Given the description of an element on the screen output the (x, y) to click on. 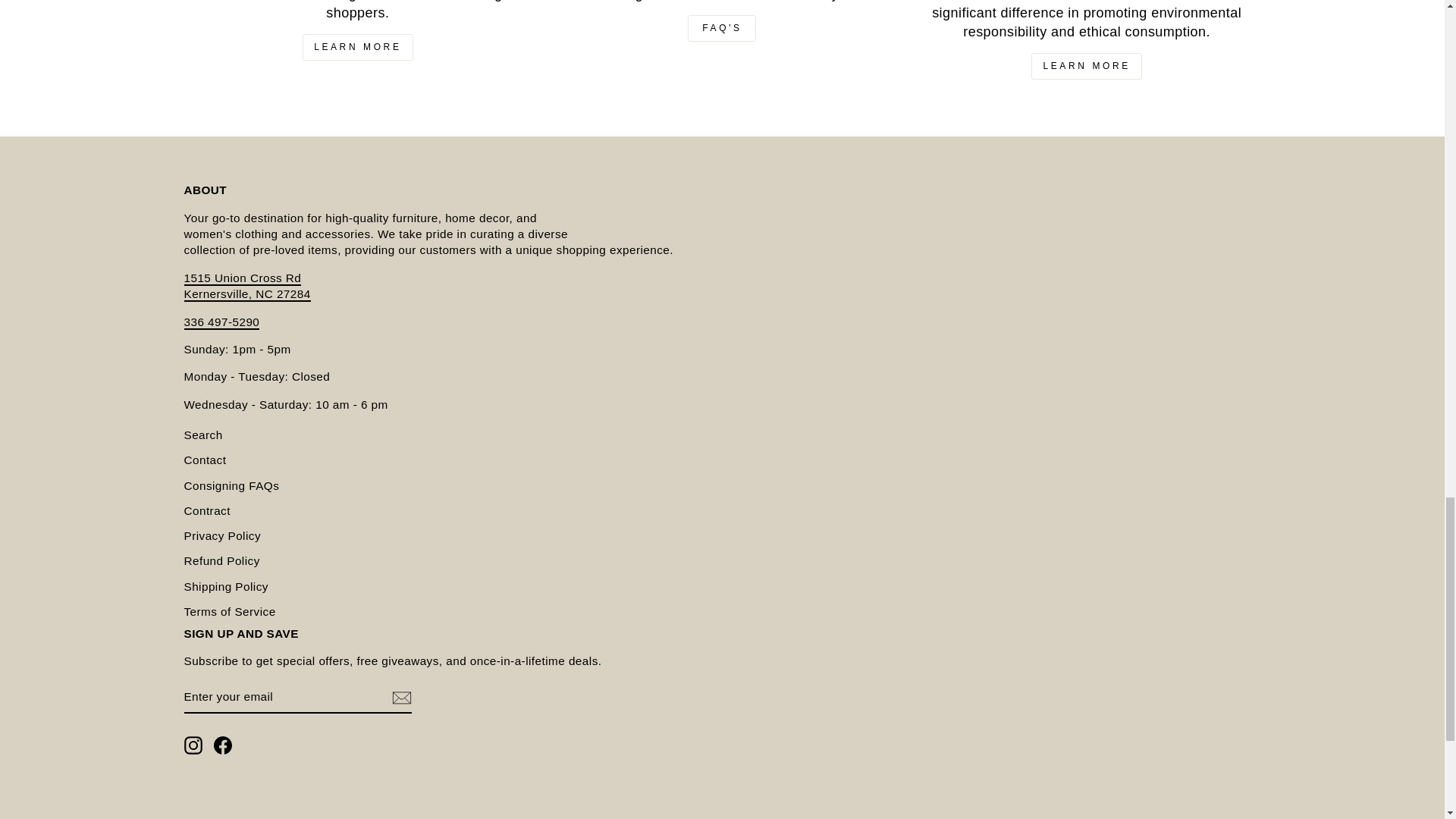
Smith and Company Consignment on Instagram (192, 745)
icon-email (400, 697)
tel:336 497-5290 (221, 322)
Smith and Company Consignment on Facebook (222, 745)
instagram (192, 745)
